Given the description of an element on the screen output the (x, y) to click on. 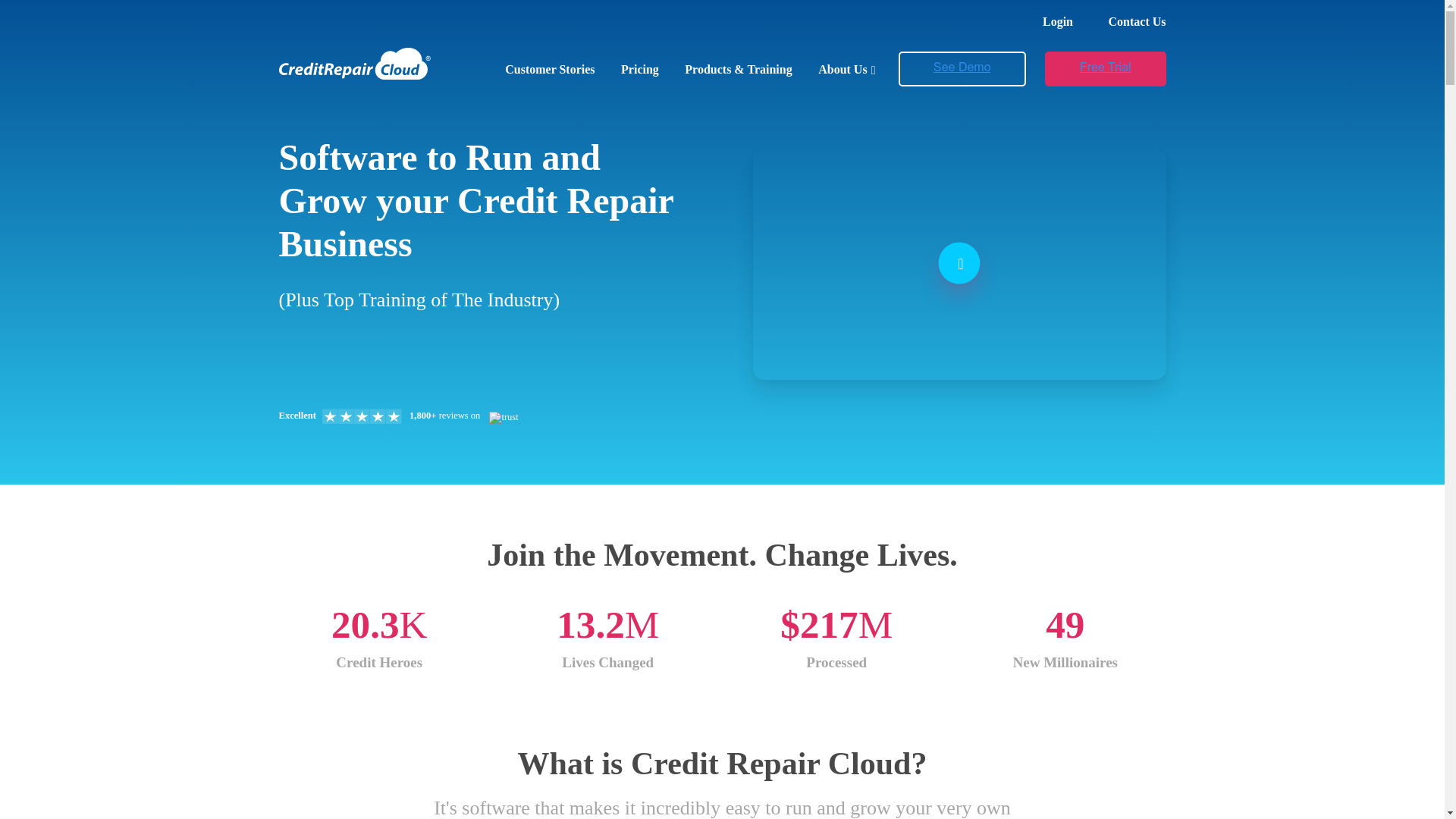
Login (1057, 21)
About Us (846, 69)
Customer Stories (549, 69)
Contact Us (1137, 21)
Pricing (640, 69)
